Given the description of an element on the screen output the (x, y) to click on. 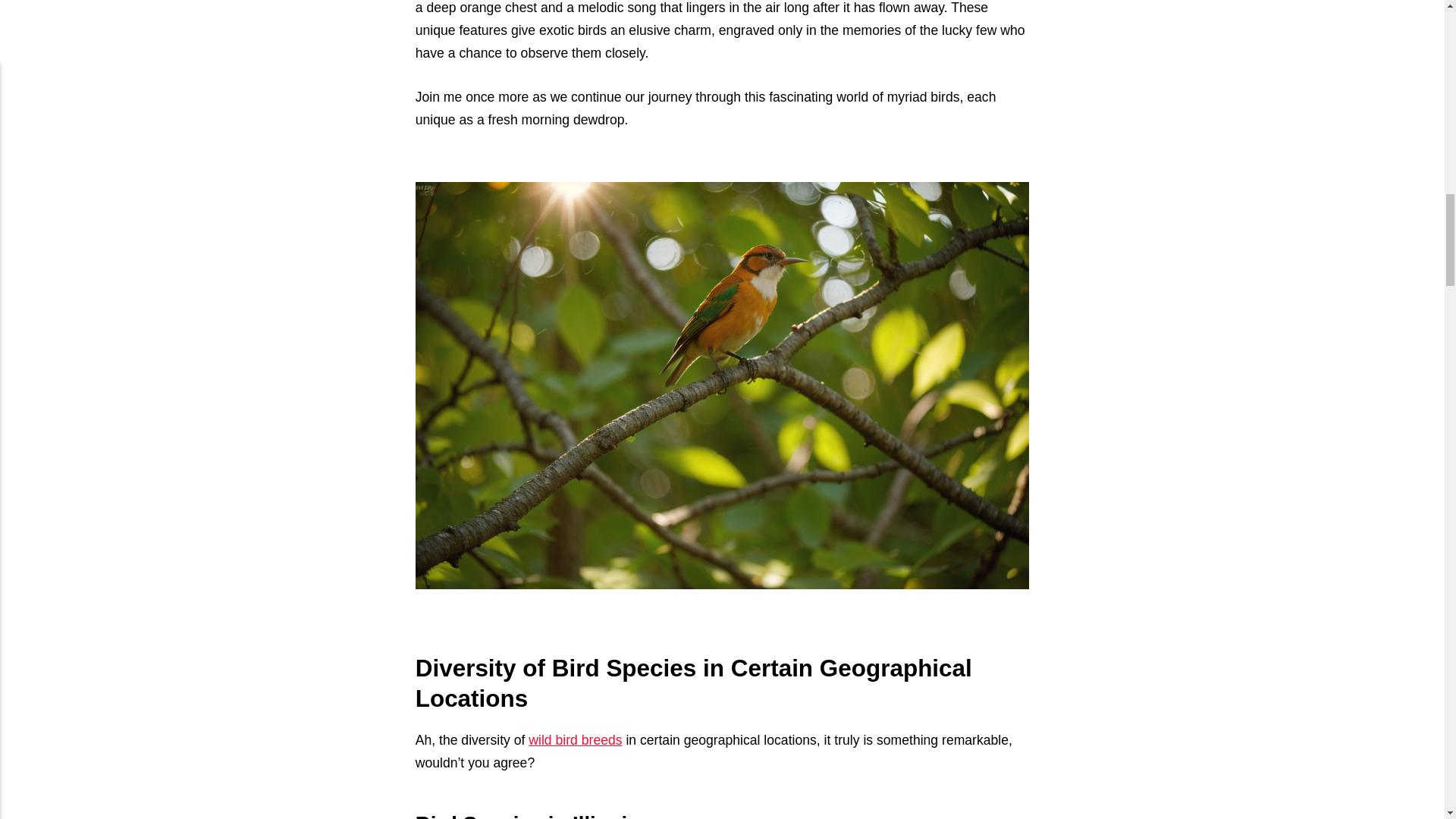
wild bird breeds (574, 739)
